Given the description of an element on the screen output the (x, y) to click on. 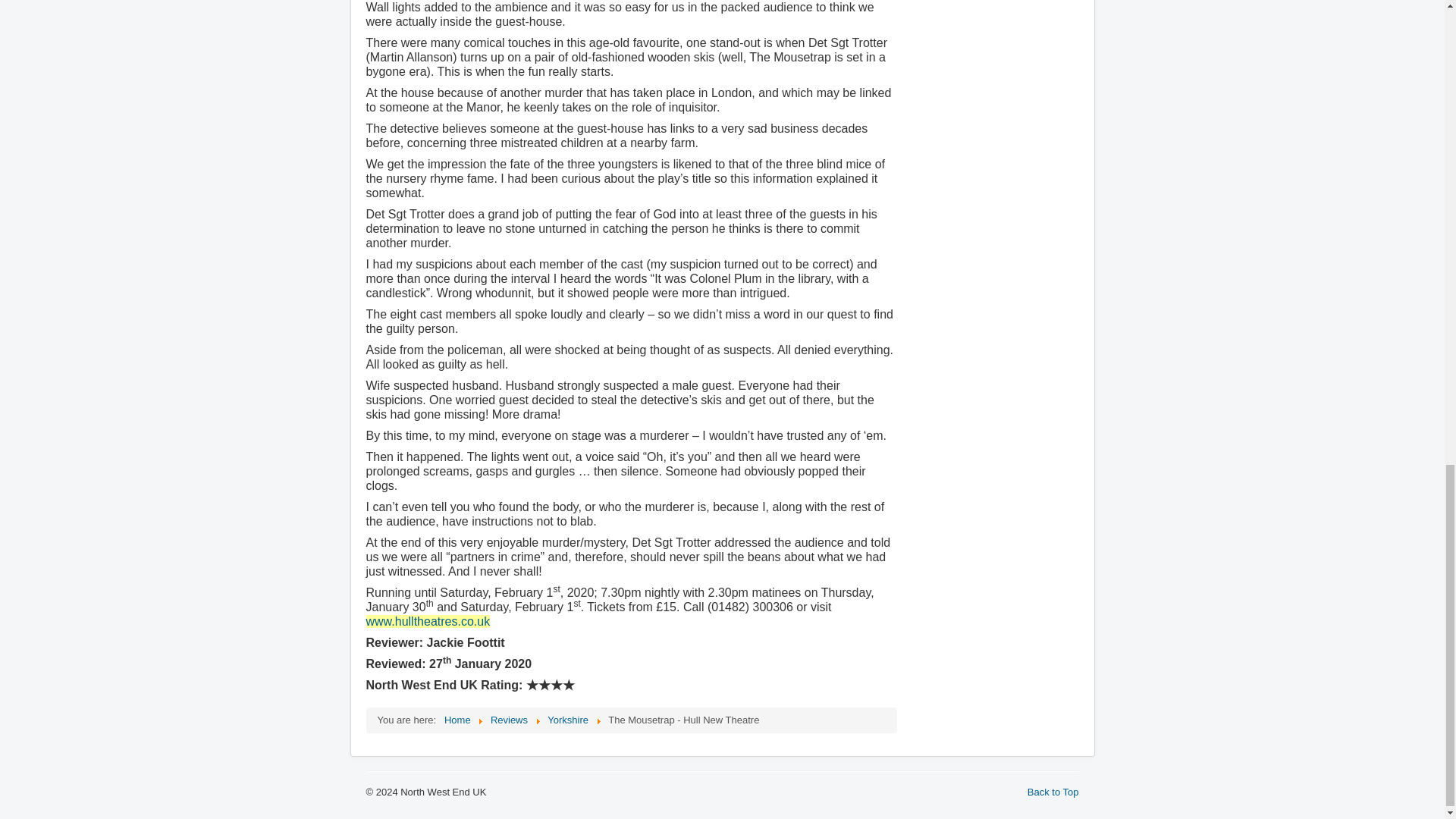
Reviews (508, 719)
www.hulltheatres.co.uk (427, 621)
Home (457, 719)
Yorkshire (567, 719)
